Given the description of an element on the screen output the (x, y) to click on. 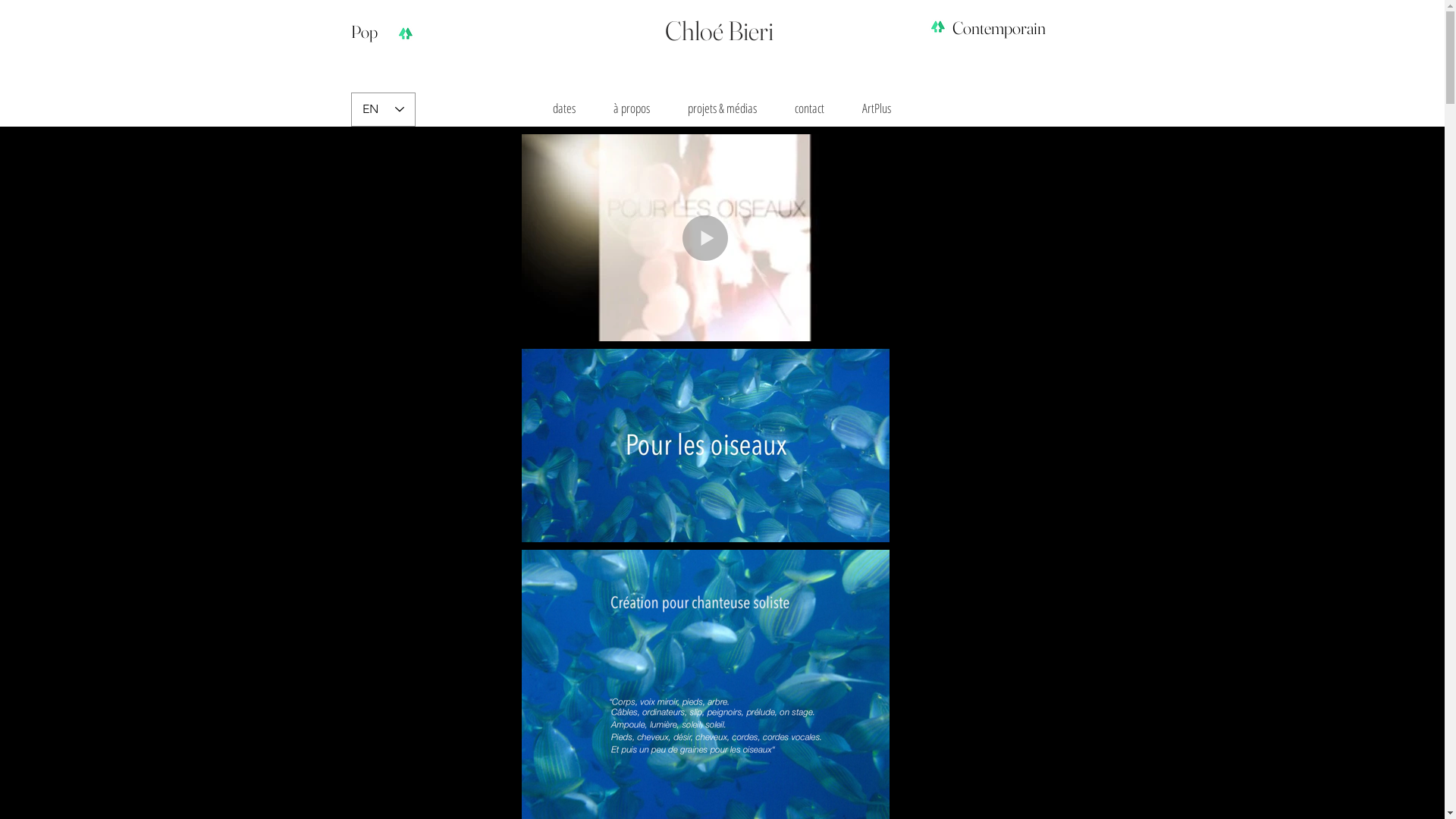
ArtPlus Element type: text (876, 107)
dates Element type: text (563, 107)
contact Element type: text (808, 107)
